Given the description of an element on the screen output the (x, y) to click on. 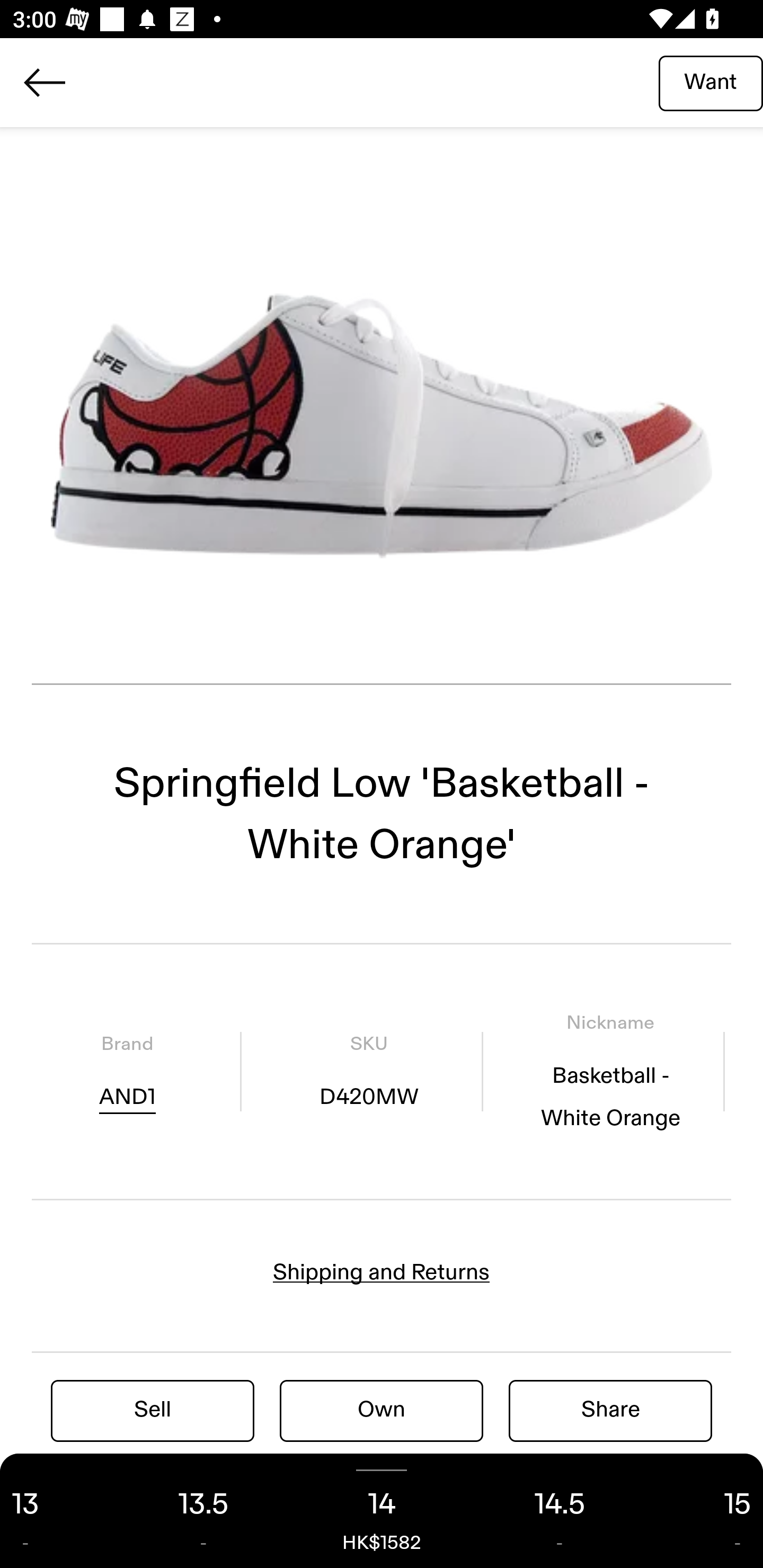
Want (710, 82)
Brand AND1 (126, 1070)
SKU D420MW (368, 1070)
Nickname Basketball - White Orange (609, 1070)
Shipping and Returns (381, 1272)
Sell (152, 1410)
Own (381, 1410)
Share (609, 1410)
13 - (57, 1510)
13.5 - (203, 1510)
14 HK$1582 (381, 1510)
14.5 - (559, 1510)
15 - (705, 1510)
